Given the description of an element on the screen output the (x, y) to click on. 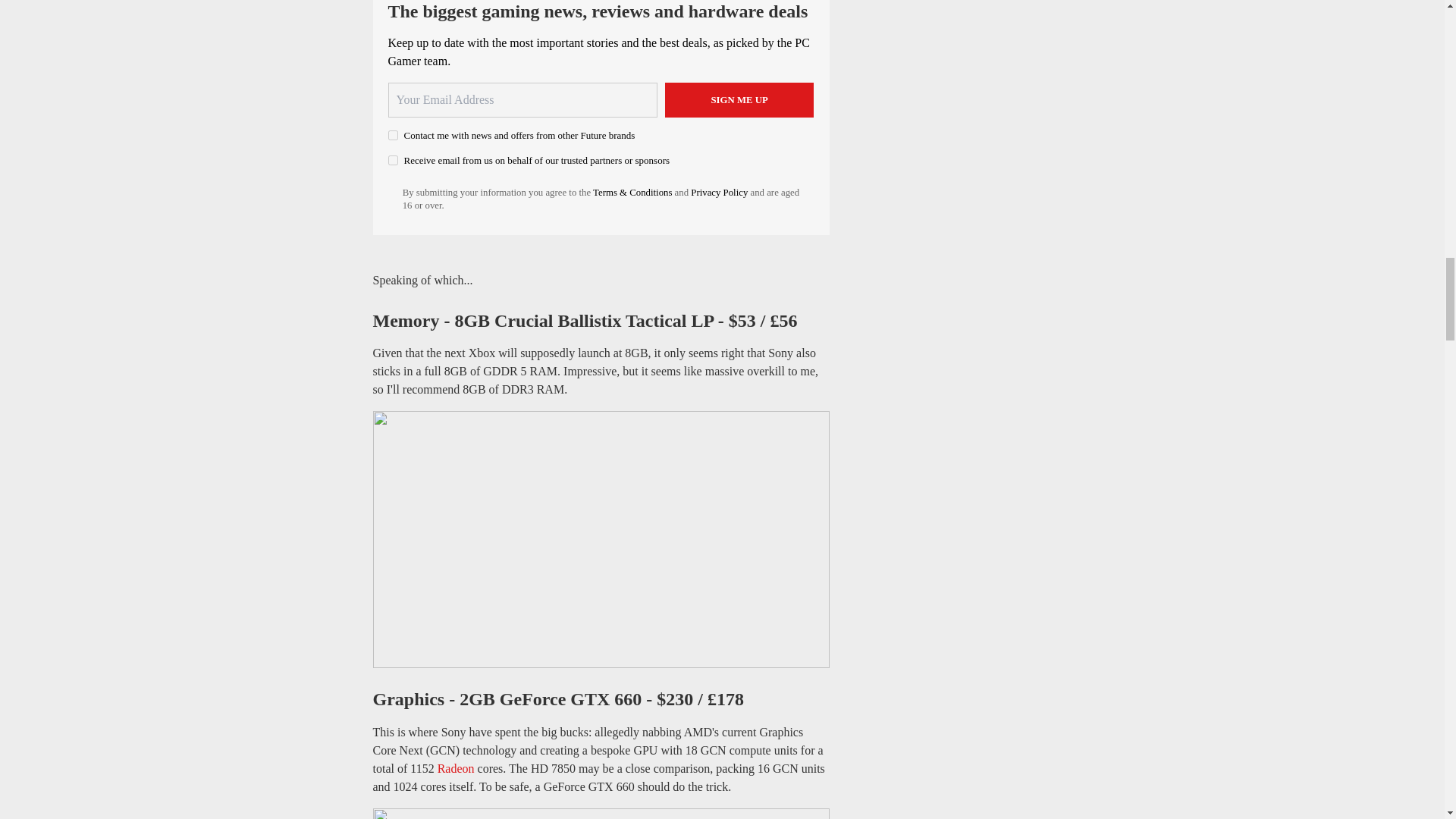
on (392, 135)
on (392, 160)
Sign me up (739, 99)
